Given the description of an element on the screen output the (x, y) to click on. 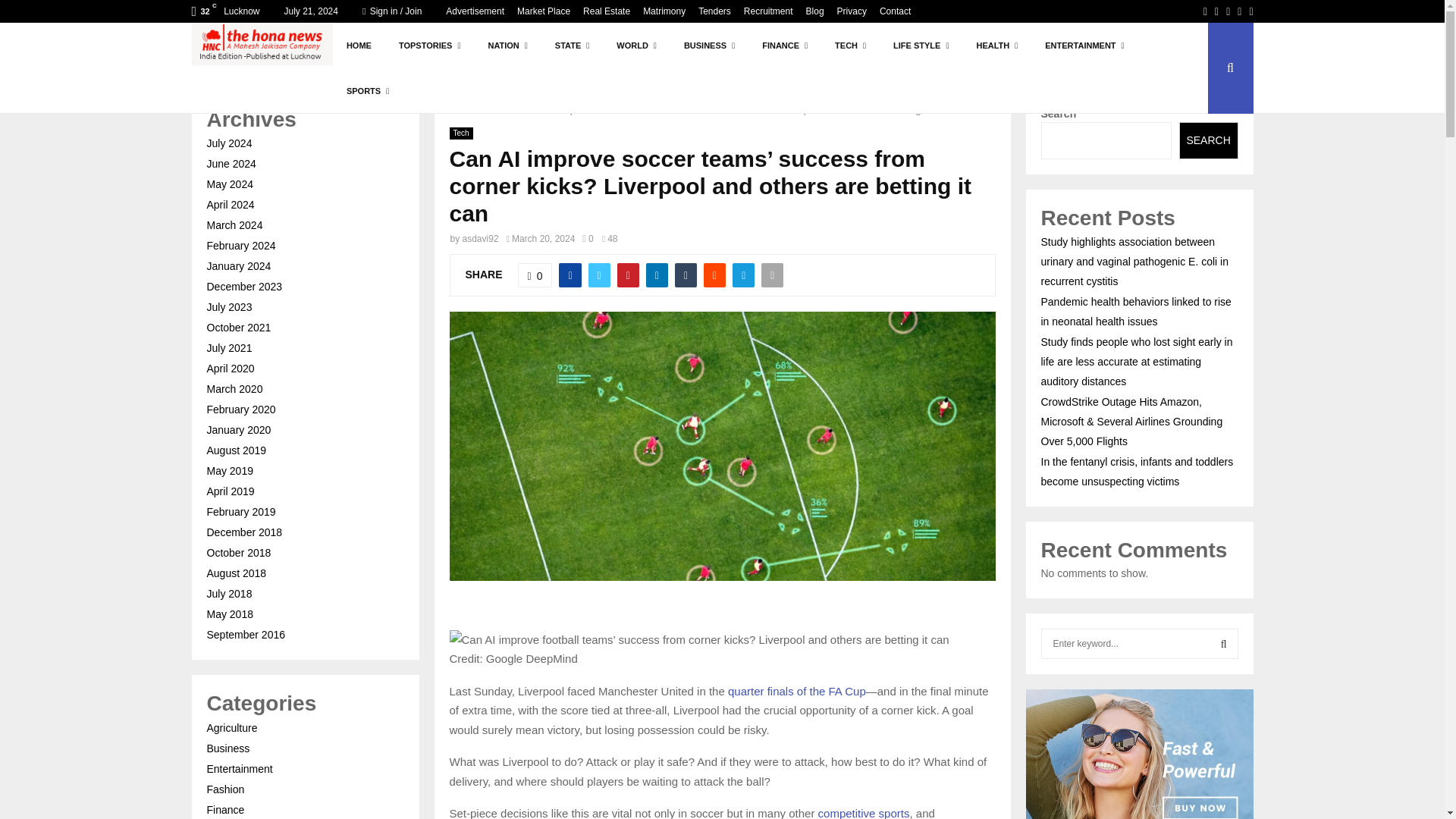
Market Place (543, 11)
HOME (359, 44)
Sign up new account (722, 527)
Privacy (851, 11)
Tenders (714, 11)
TOPSTORIES (429, 44)
Login to your account (722, 293)
Recruitment (768, 11)
Contact (895, 11)
Matrimony (664, 11)
Real Estate (606, 11)
Advertisement (474, 11)
